Given the description of an element on the screen output the (x, y) to click on. 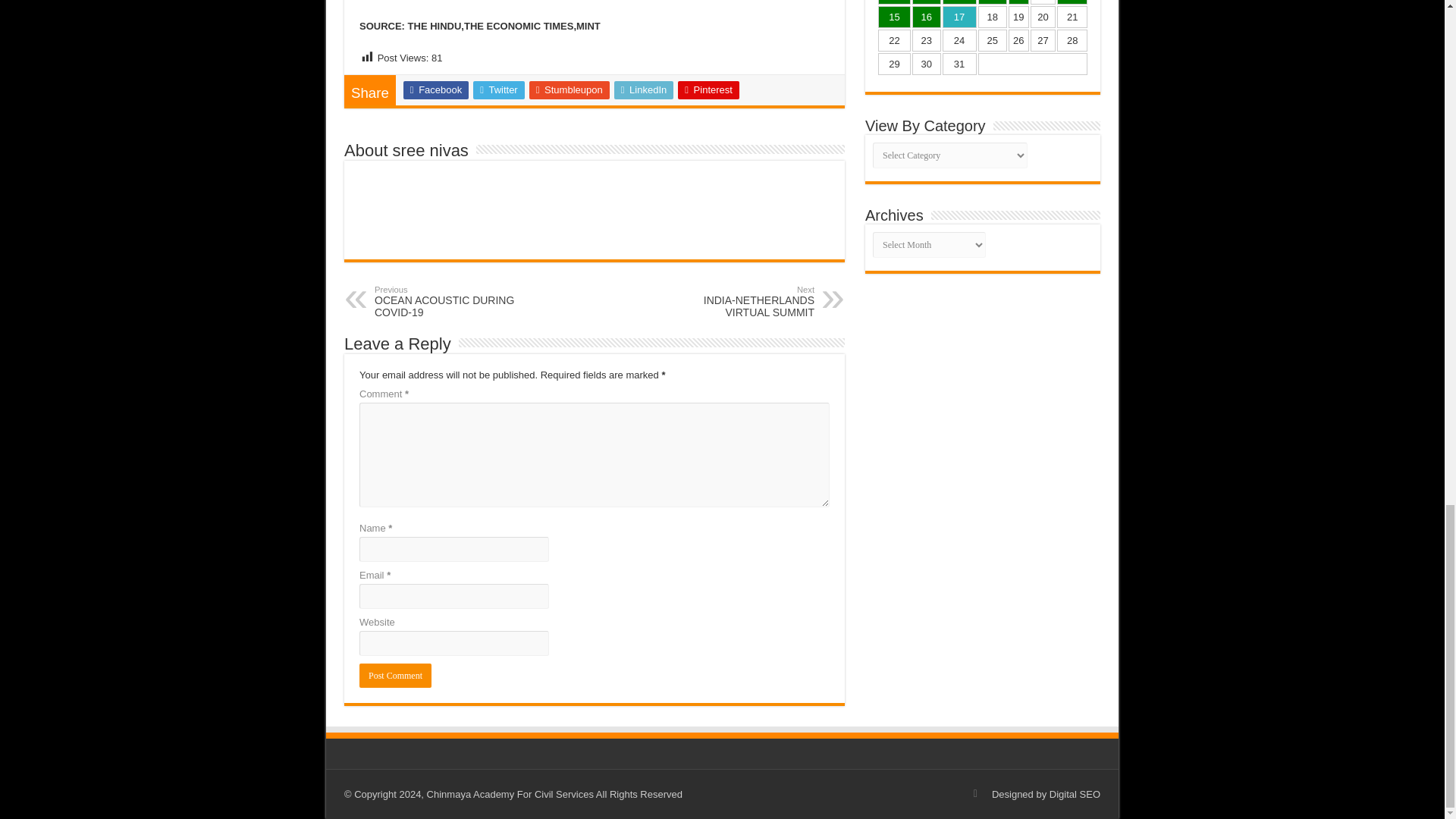
Facebook (435, 90)
Post Comment (394, 675)
Twitter (498, 90)
